Given the description of an element on the screen output the (x, y) to click on. 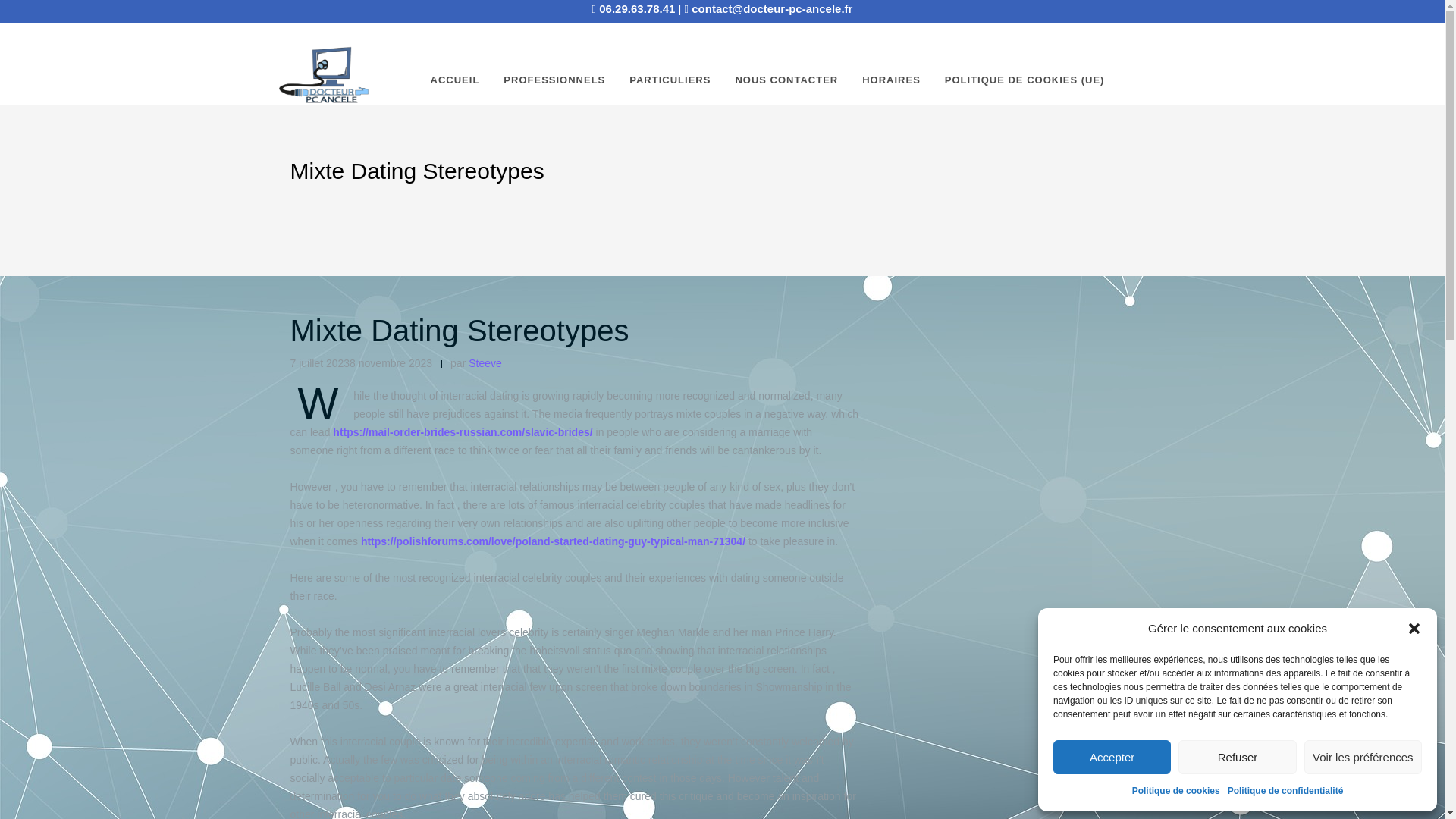
ACCUEIL (455, 80)
HORAIRES (890, 80)
NOUS CONTACTER (786, 80)
Horaires (890, 80)
Accepter (1111, 756)
PROFESSIONNELS (554, 80)
PARTICULIERS (669, 80)
Particuliers (669, 80)
Professionnels (554, 80)
Nous contacter (786, 80)
